Given the description of an element on the screen output the (x, y) to click on. 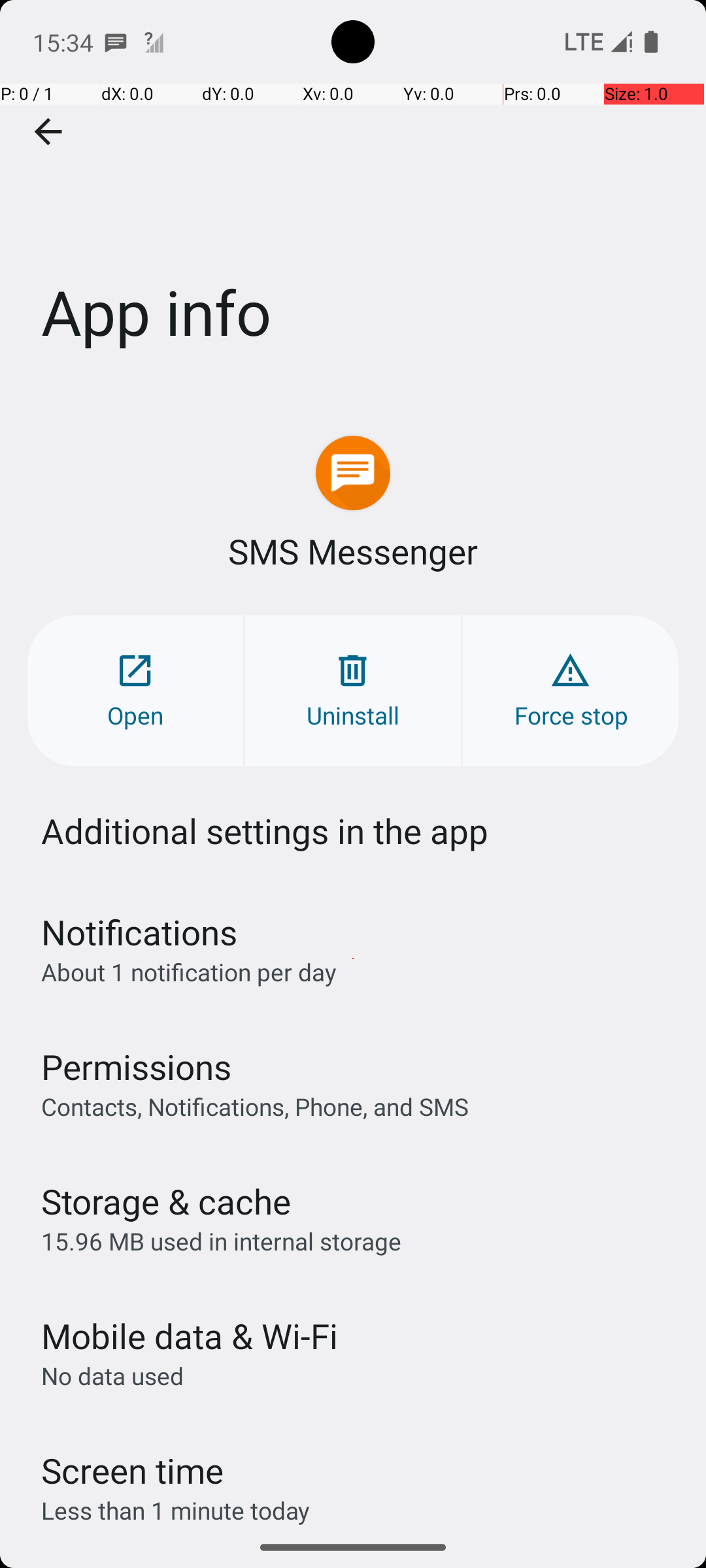
Additional settings in the app Element type: android.widget.TextView (264, 830)
About 1 notification per day Element type: android.widget.TextView (188, 971)
Contacts, Notifications, Phone, and SMS Element type: android.widget.TextView (254, 1106)
15.96 MB used in internal storage Element type: android.widget.TextView (221, 1240)
Less than 1 minute today Element type: android.widget.TextView (175, 1509)
